Given the description of an element on the screen output the (x, y) to click on. 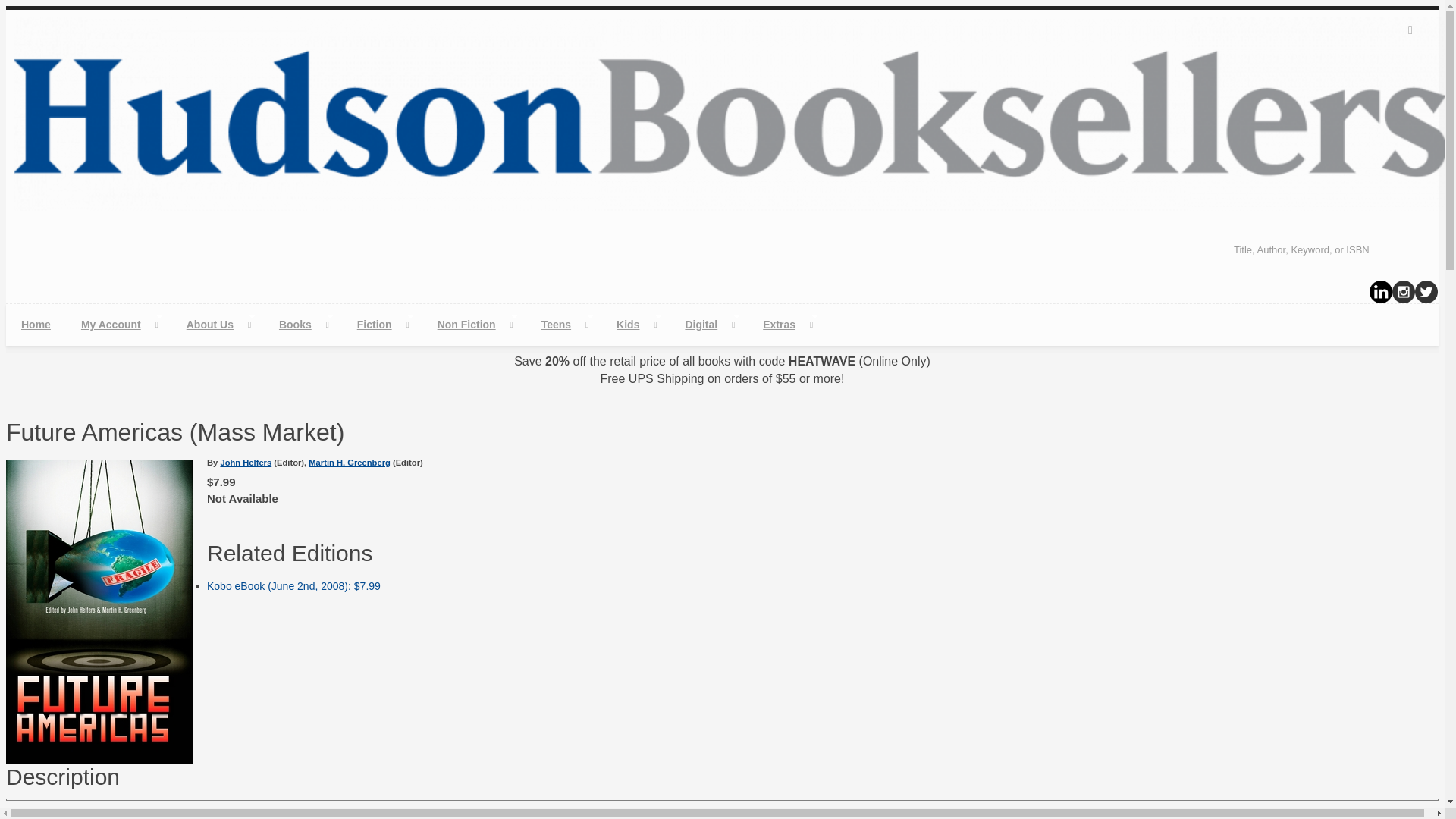
Title, Author, Keyword, or ISBN (1330, 249)
Home (35, 324)
